Given the description of an element on the screen output the (x, y) to click on. 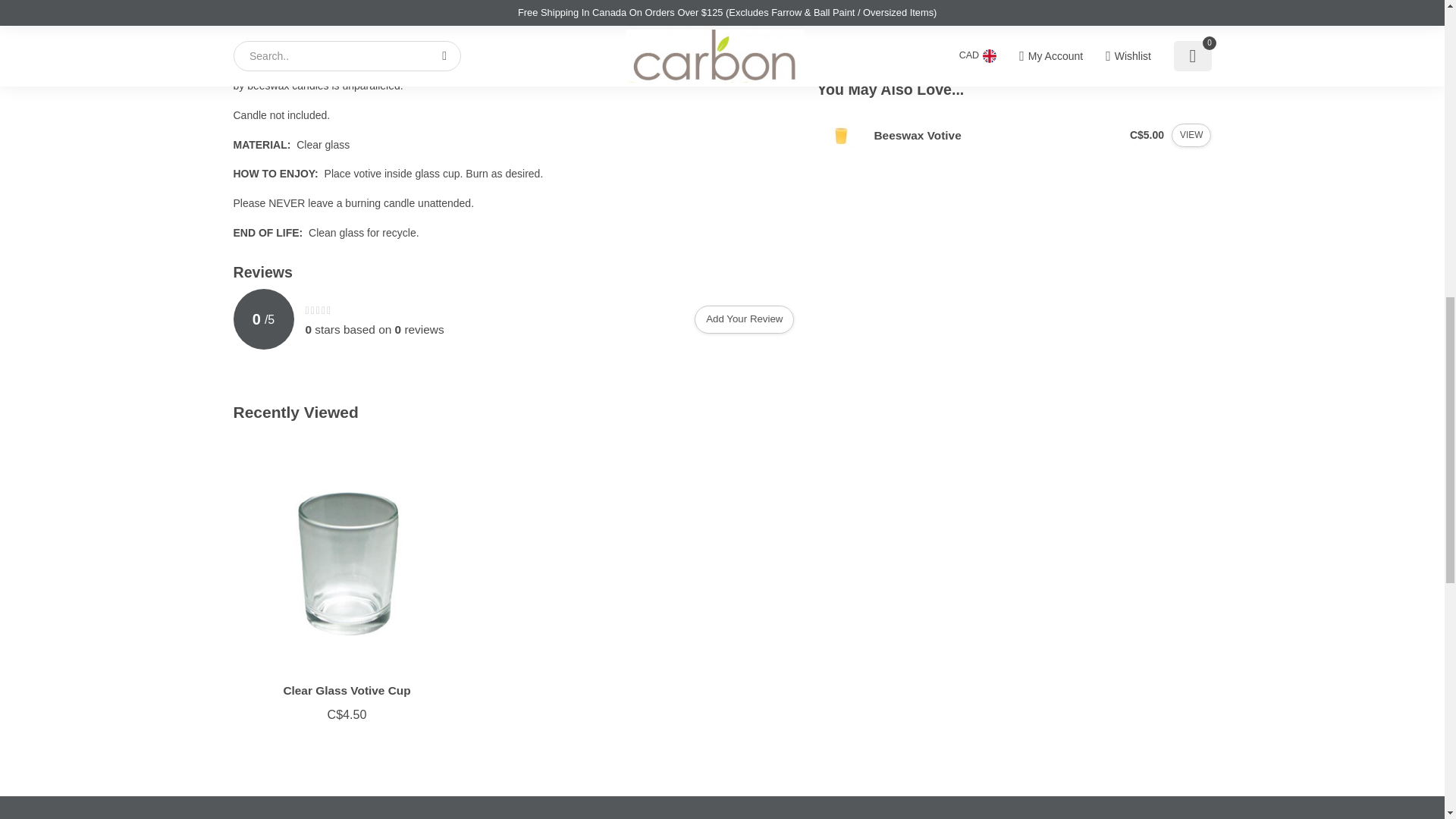
Beeswax Works Beeswax Votive (841, 134)
Honey Candles Clear Glass Votive Cup (346, 690)
Honey Candles Clear Glass Votive Cup (346, 558)
